Given the description of an element on the screen output the (x, y) to click on. 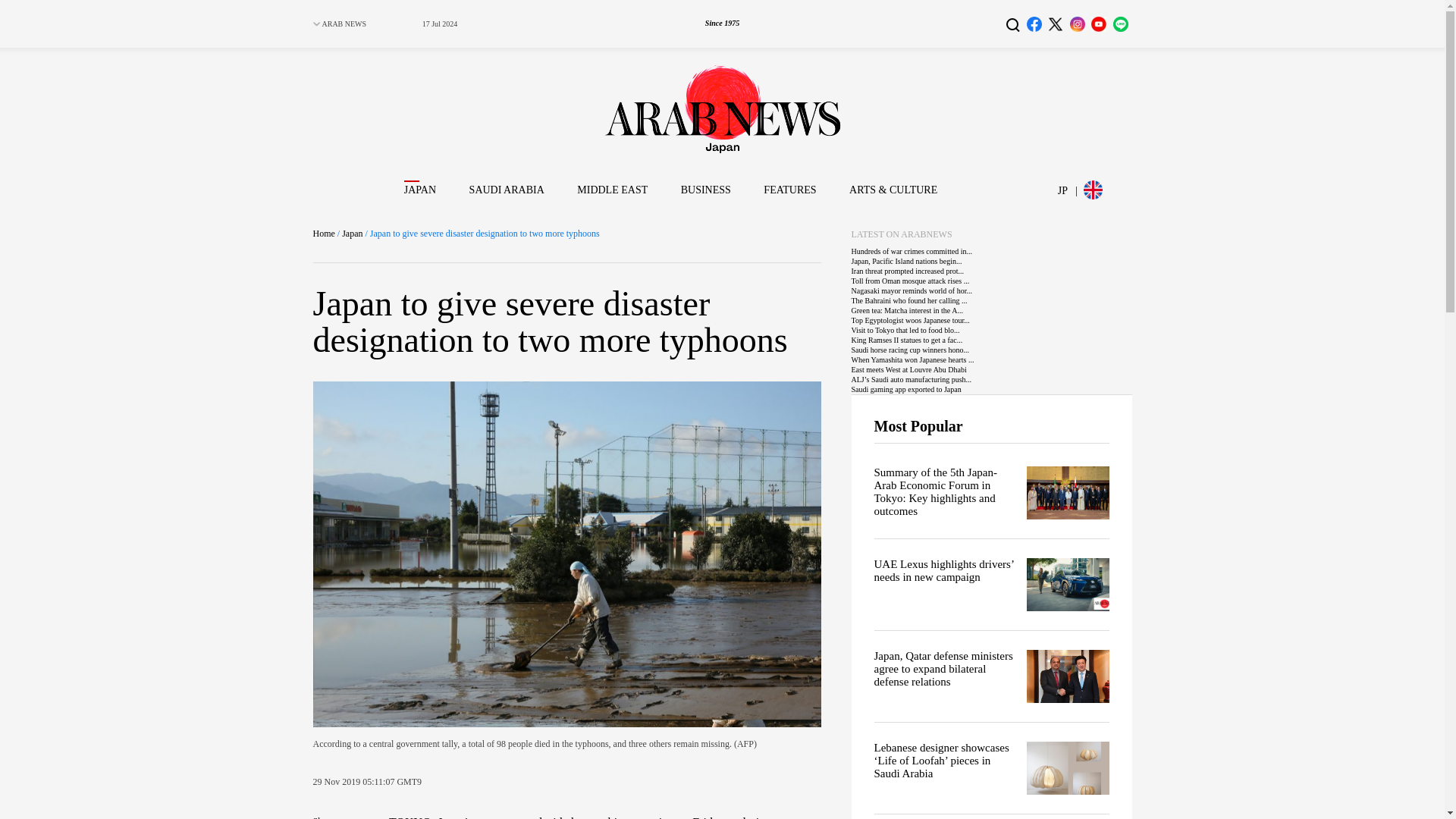
BUSINESS (705, 189)
JAPAN (419, 189)
ARAB NEWS (343, 23)
SAUDI ARABIA (506, 189)
MIDDLE EAST (611, 189)
